Given the description of an element on the screen output the (x, y) to click on. 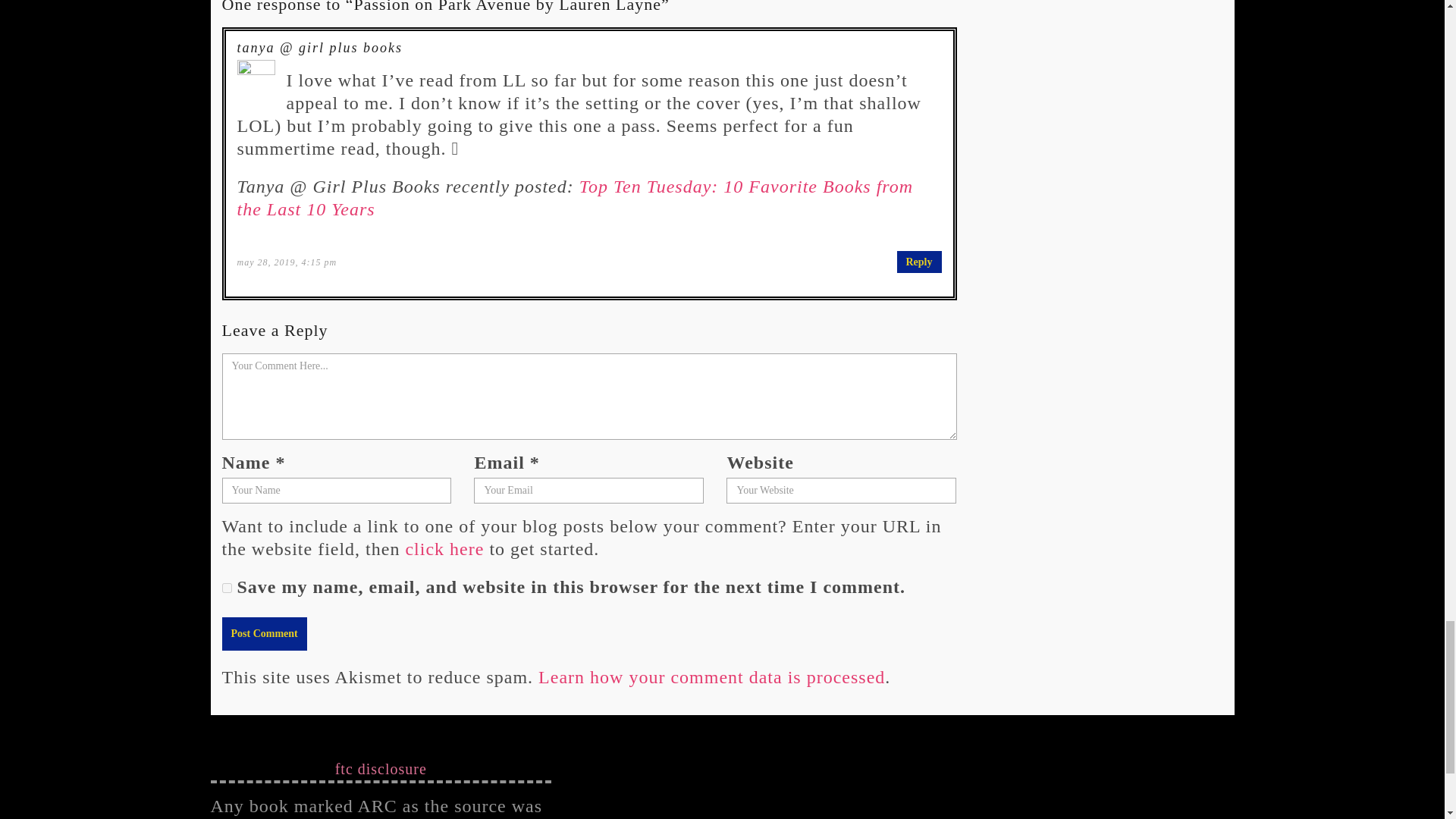
Post Comment (263, 633)
yes (226, 587)
